Given the description of an element on the screen output the (x, y) to click on. 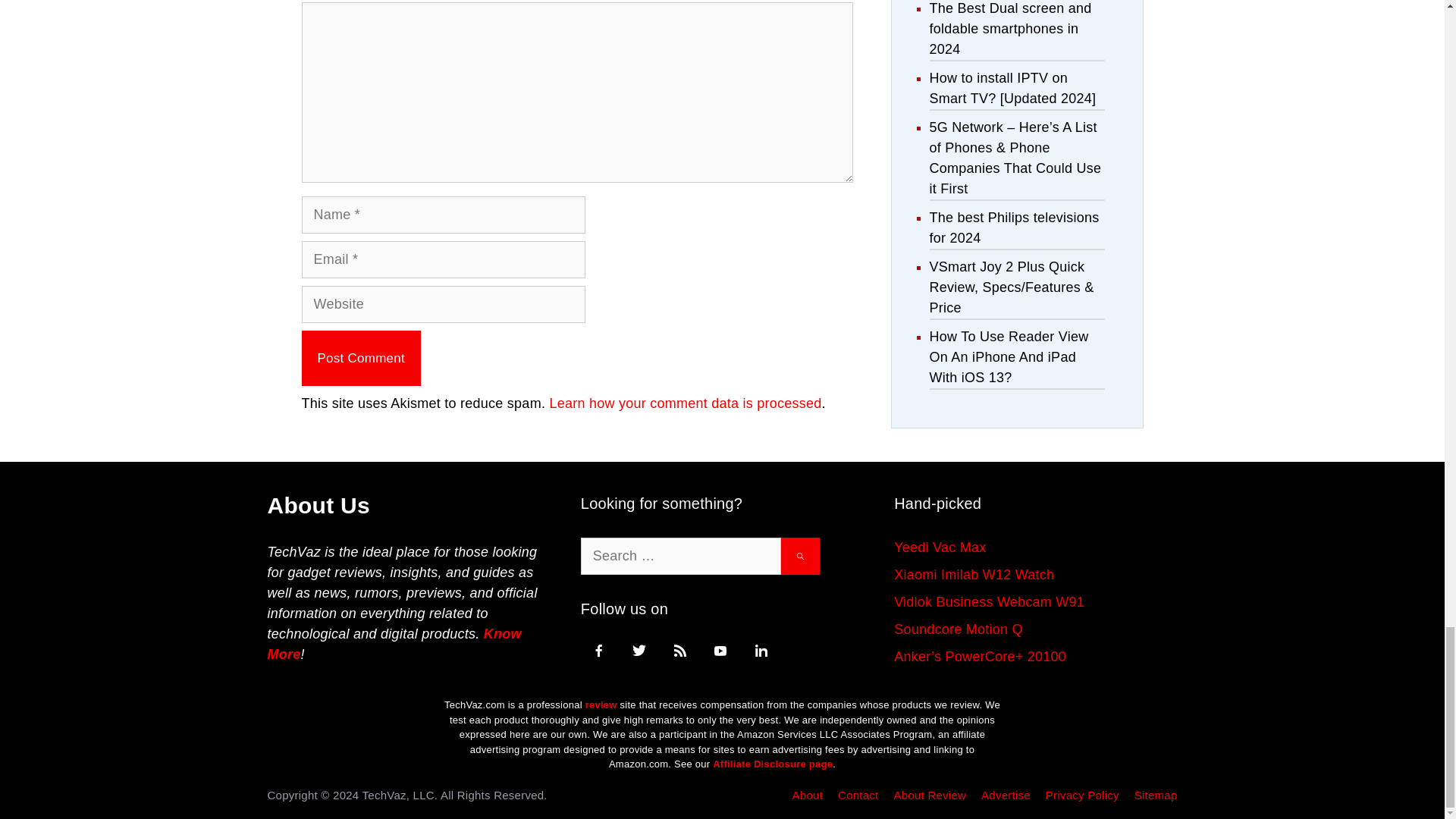
Post Comment (360, 357)
